Given the description of an element on the screen output the (x, y) to click on. 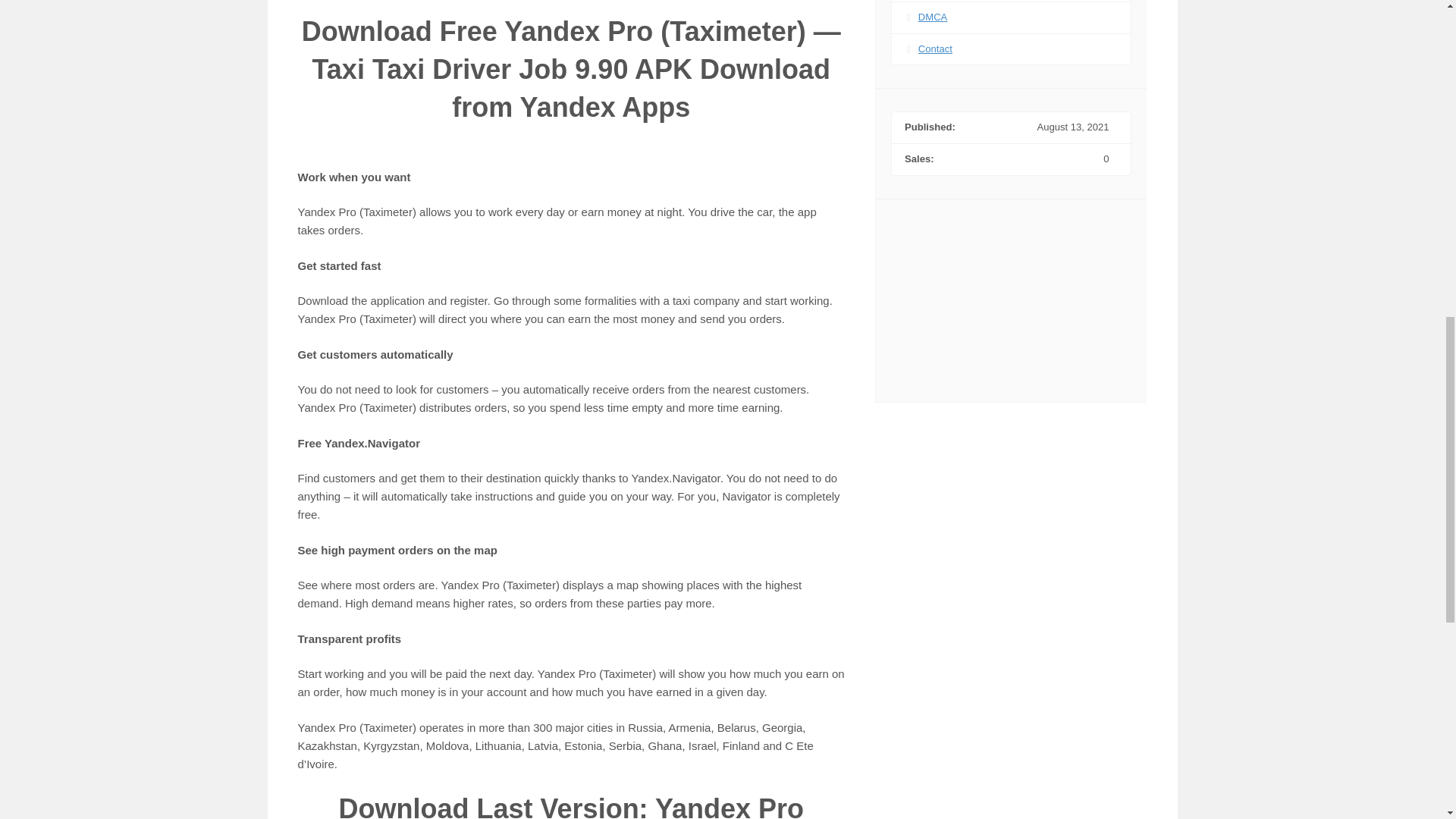
DMCA (932, 16)
Contact (935, 48)
